Given the description of an element on the screen output the (x, y) to click on. 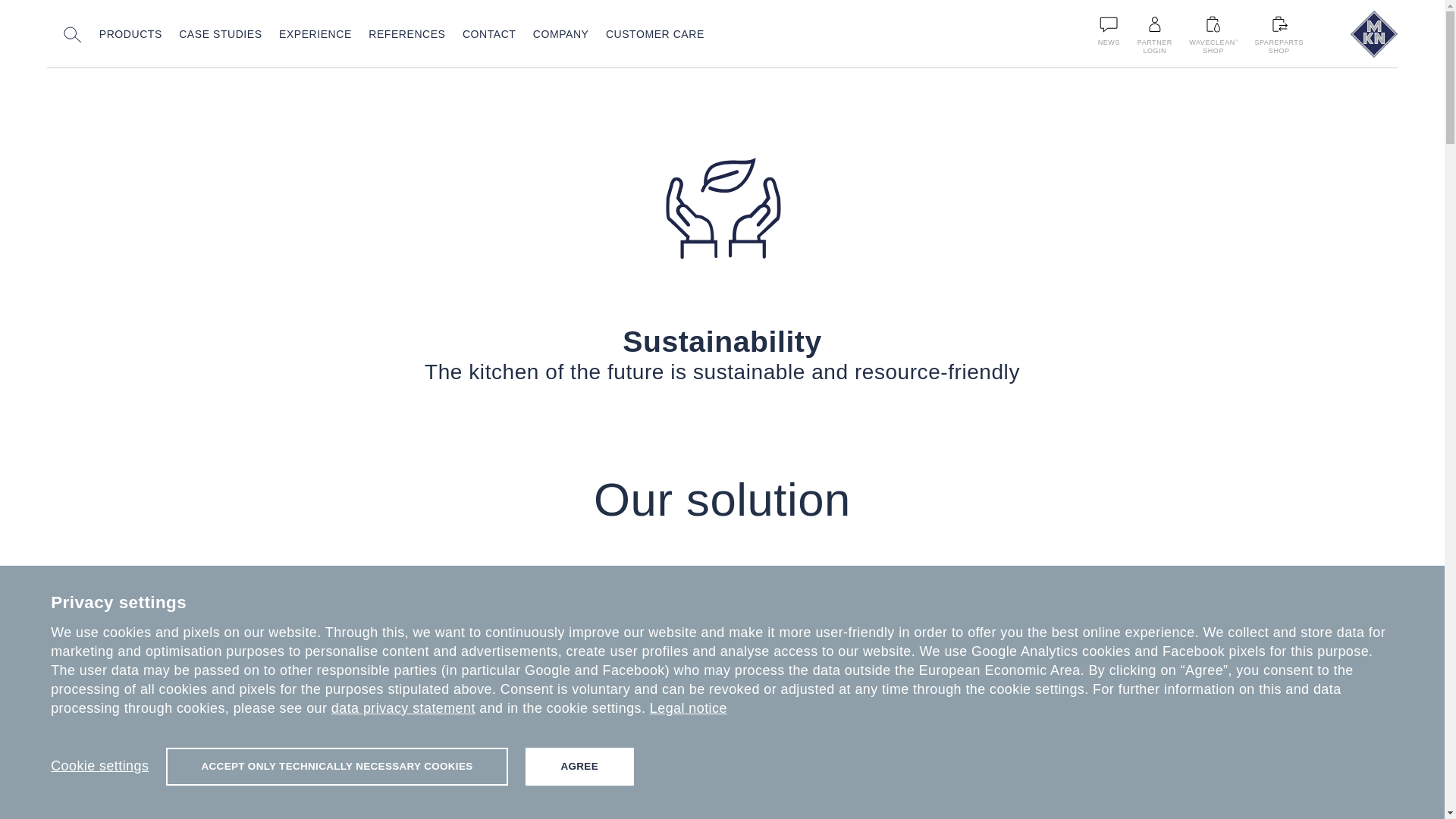
REFERENCES (406, 34)
PRODUCTS (1278, 34)
EXPERIENCE (130, 34)
CUSTOMER CARE (315, 34)
CONTACT (654, 34)
News (489, 34)
COMPANY (1108, 24)
CASE STUDIES (560, 34)
